Given the description of an element on the screen output the (x, y) to click on. 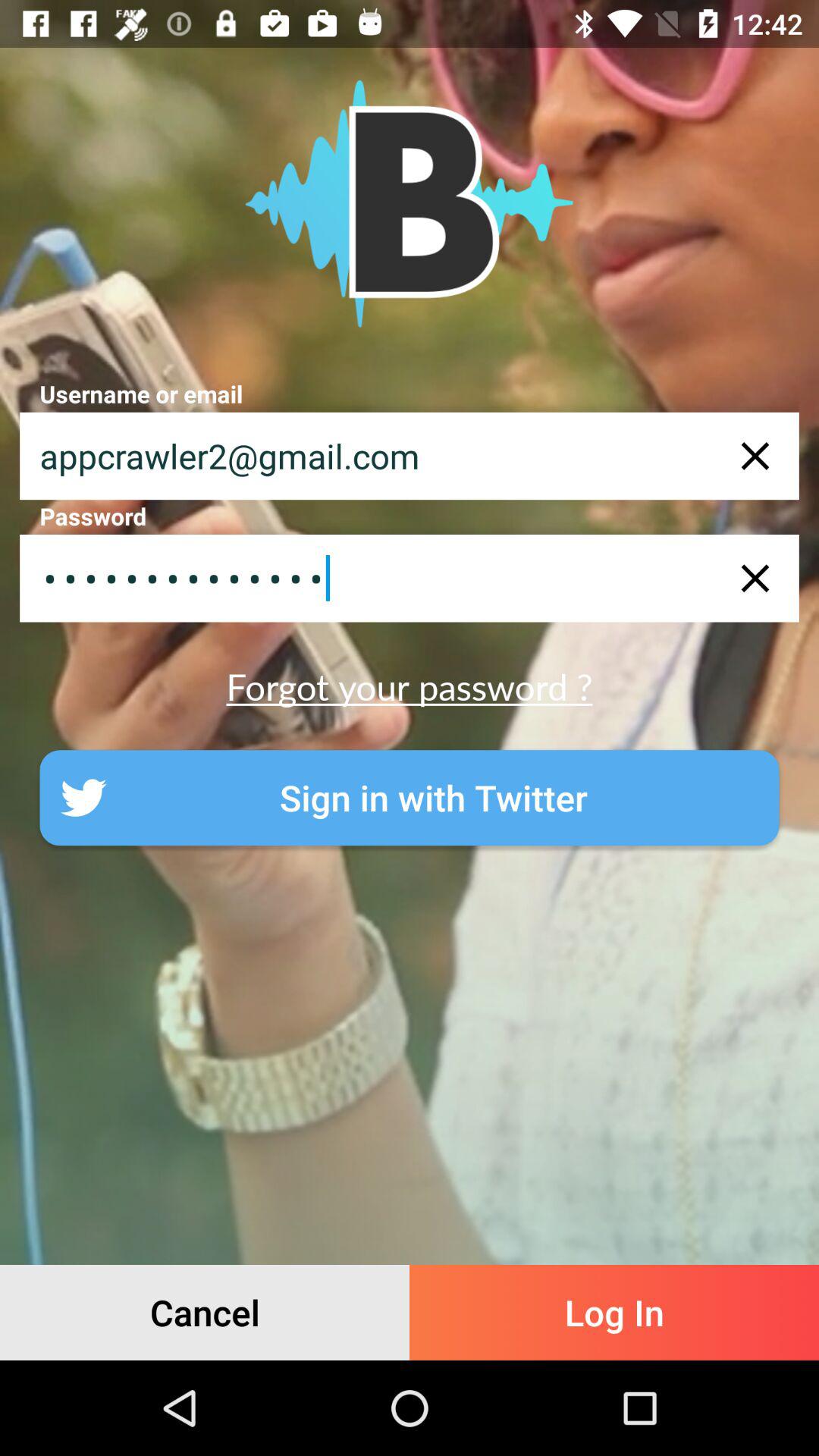
open the appcrawler3116 item (409, 578)
